Given the description of an element on the screen output the (x, y) to click on. 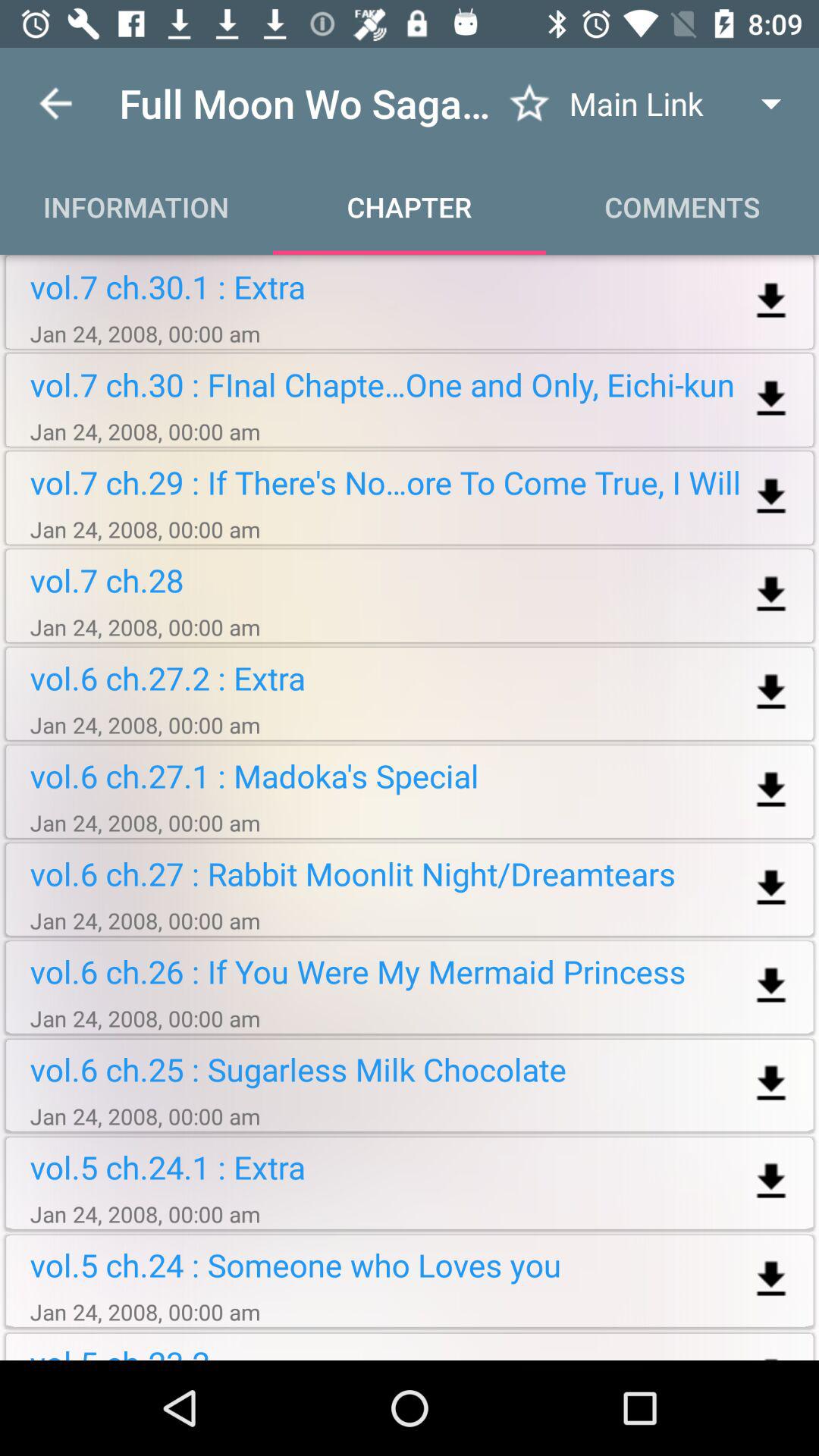
download selected (771, 790)
